Given the description of an element on the screen output the (x, y) to click on. 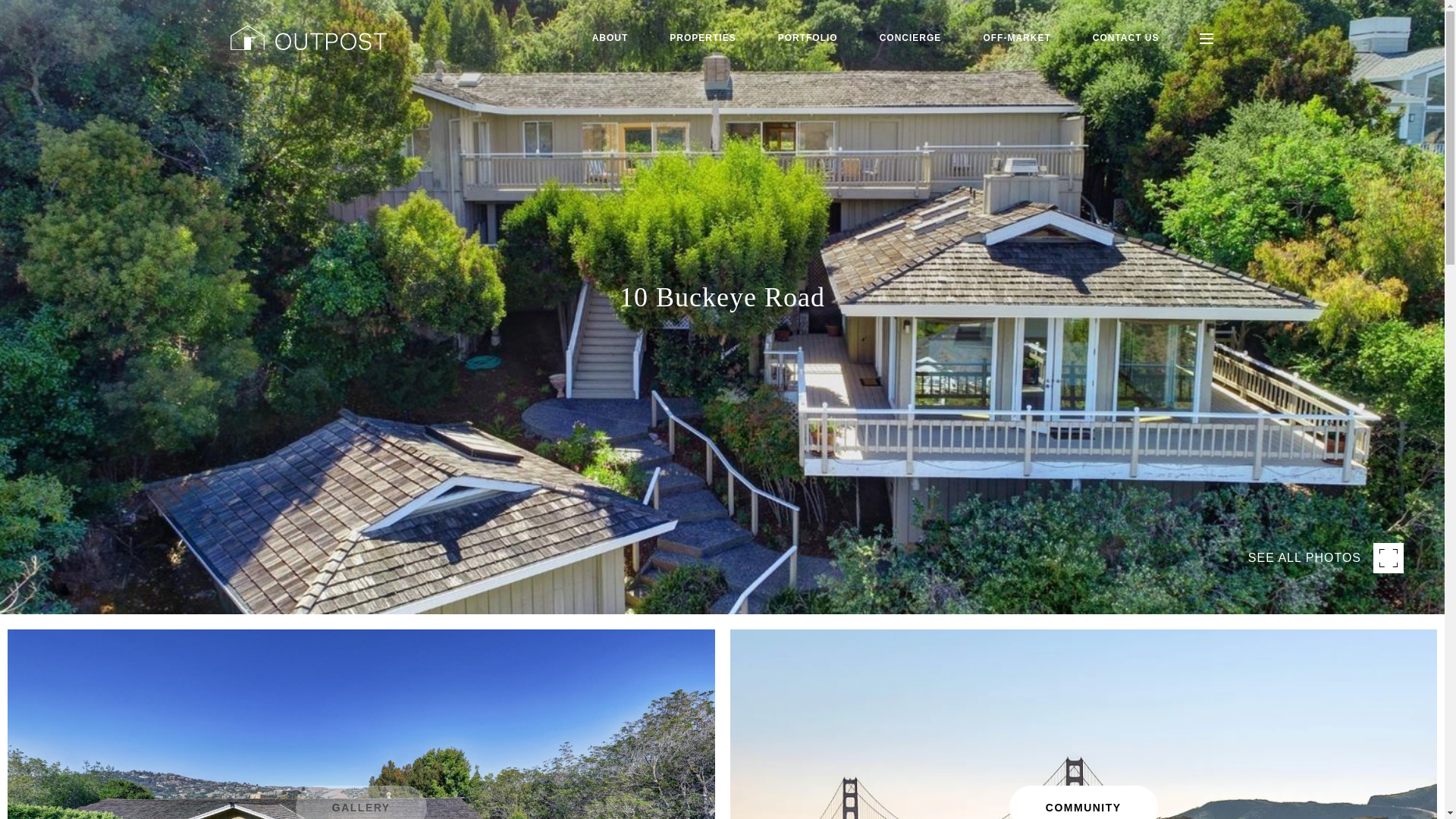
COMMUNITY (1083, 802)
CONCIERGE (910, 38)
GALLERY (360, 802)
PORTFOLIO (807, 38)
PROPERTIES (702, 38)
ABOUT (610, 38)
CONTACT US (1125, 38)
OFF-MARKET (1015, 38)
